Given the description of an element on the screen output the (x, y) to click on. 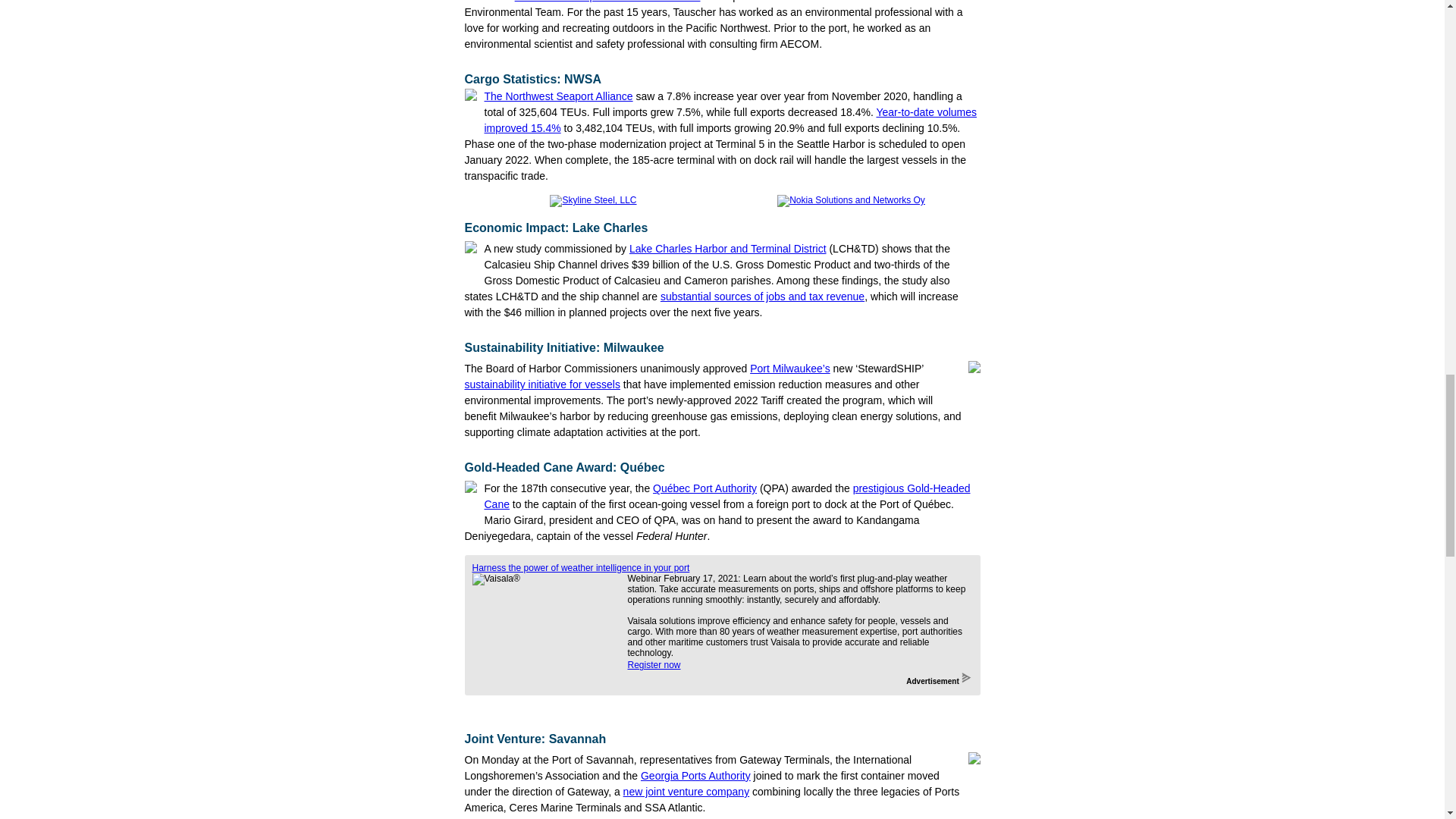
Cargo Statistics: NWSA (531, 78)
environmental specialist Mark Tauscher (607, 1)
